Given the description of an element on the screen output the (x, y) to click on. 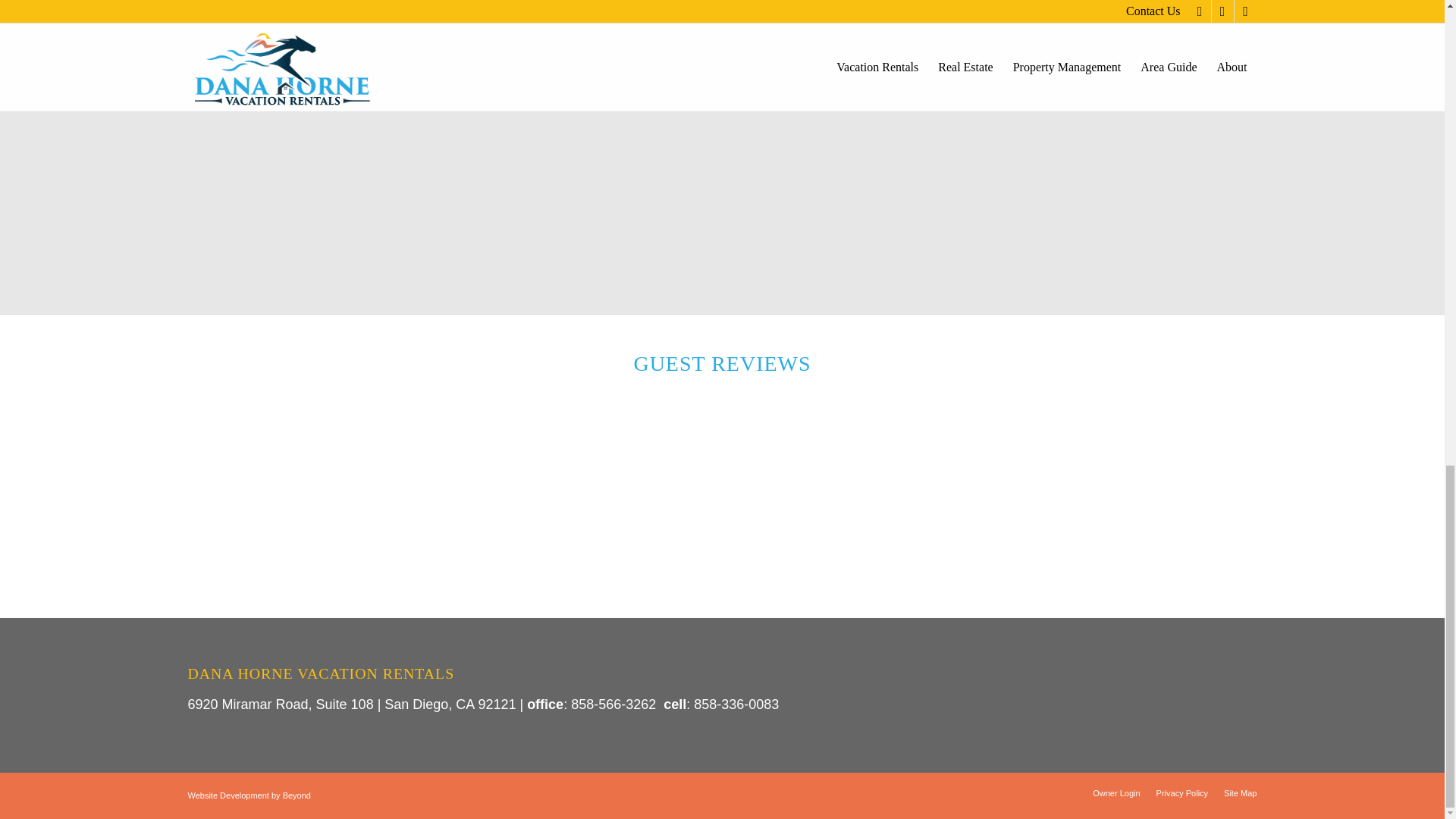
Owner Login (1116, 792)
Site Map (1240, 792)
Privacy Policy (1182, 792)
Beyond (296, 795)
